Given the description of an element on the screen output the (x, y) to click on. 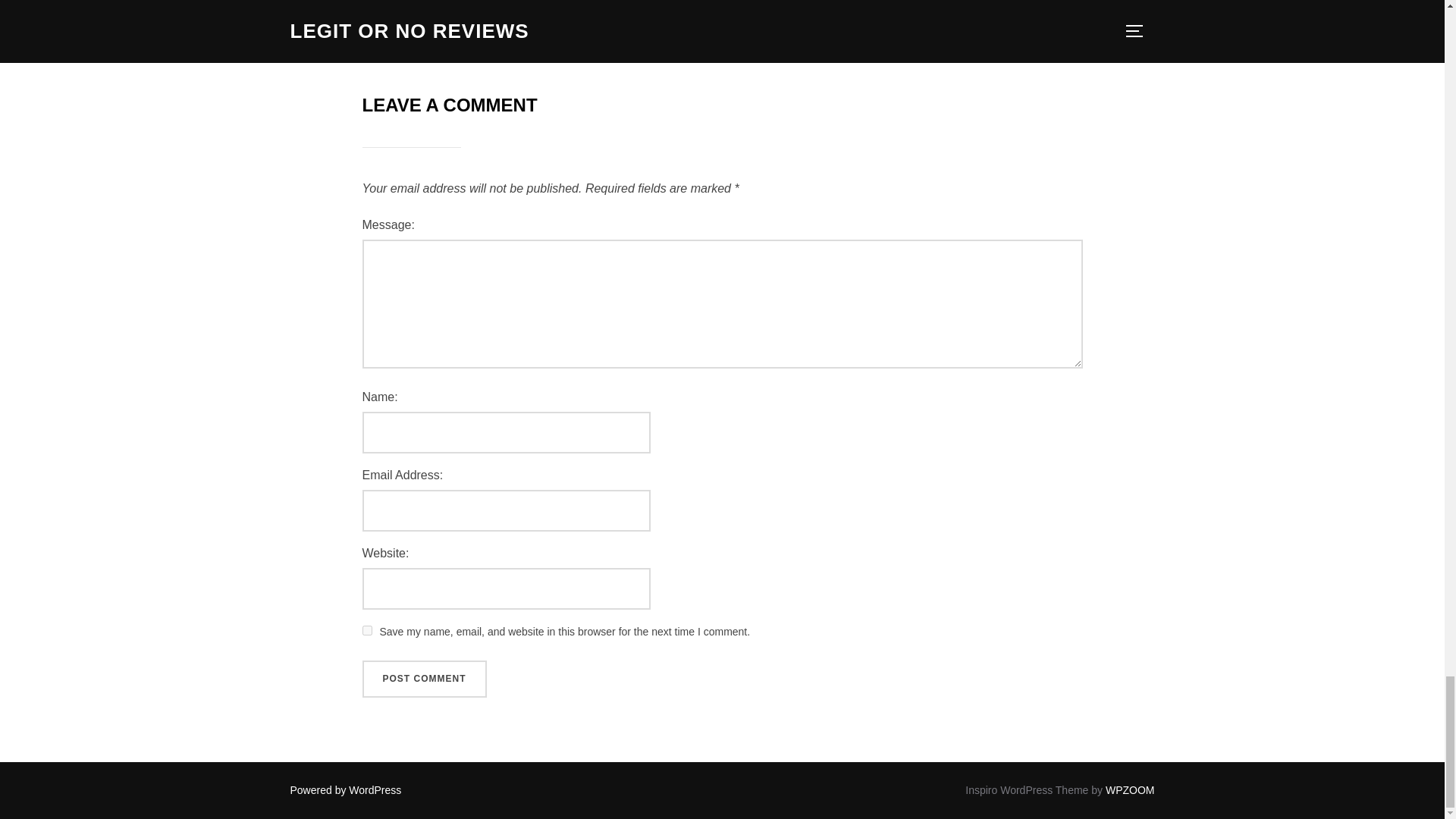
yes (367, 630)
Post Comment (424, 679)
WPZOOM (1129, 789)
Post Comment (424, 679)
Powered by WordPress (345, 789)
